Given the description of an element on the screen output the (x, y) to click on. 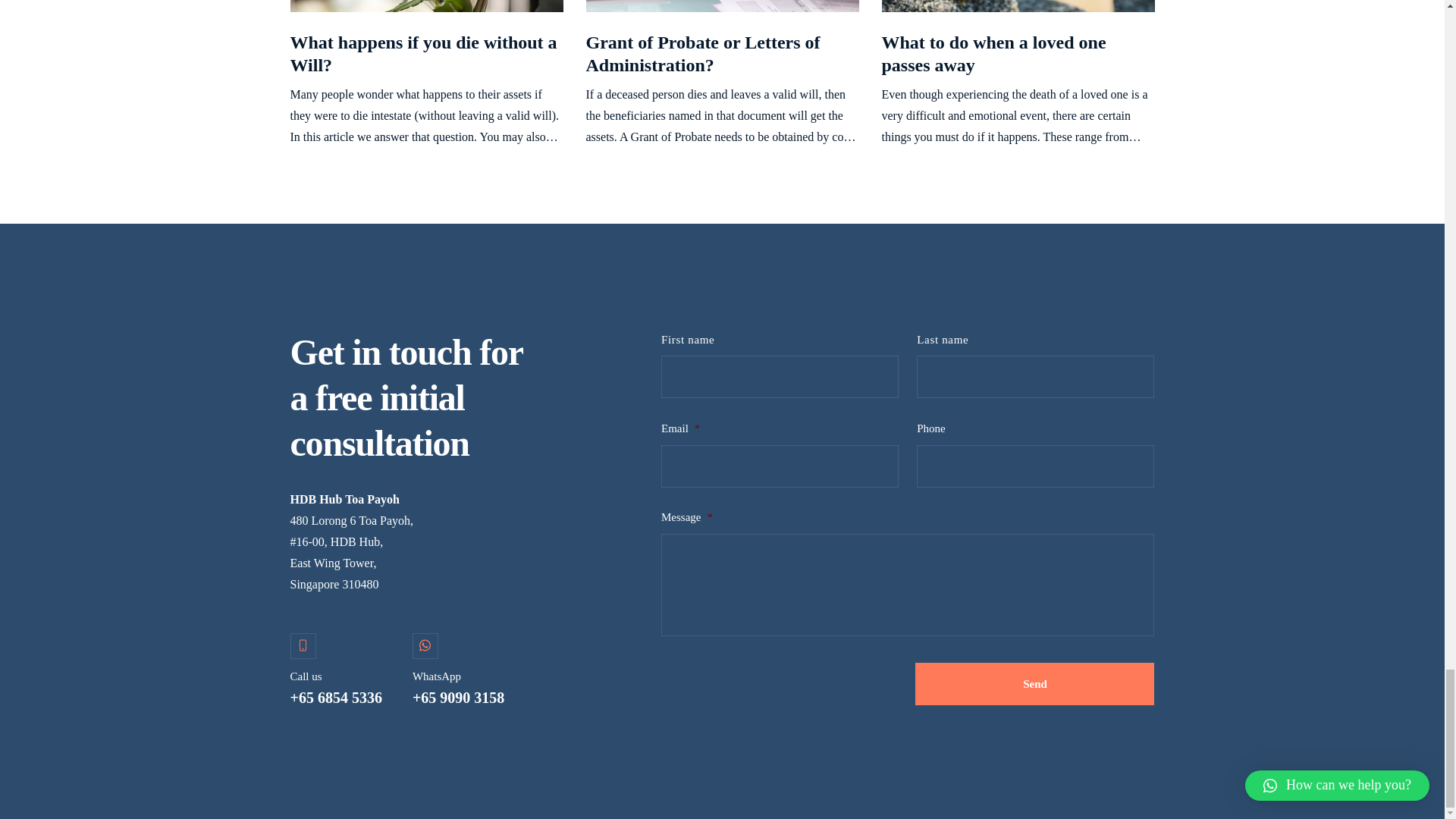
What happens if you die without a Will? (422, 53)
Send (1034, 683)
Send (1034, 683)
Grant of Probate or Letters of Administration? (702, 53)
What to do when a loved one passes away (992, 53)
